Given the description of an element on the screen output the (x, y) to click on. 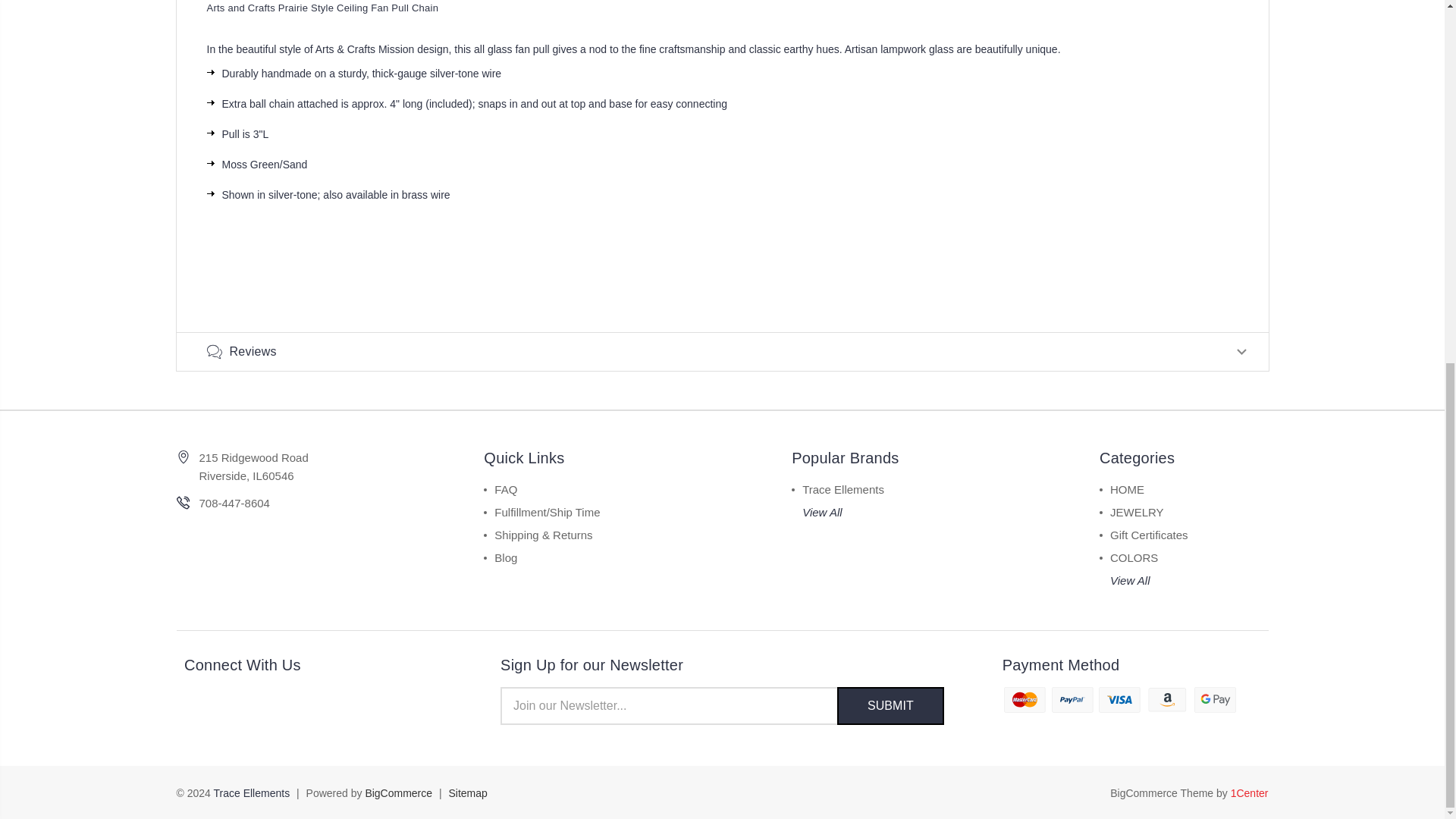
submit (890, 705)
